Given the description of an element on the screen output the (x, y) to click on. 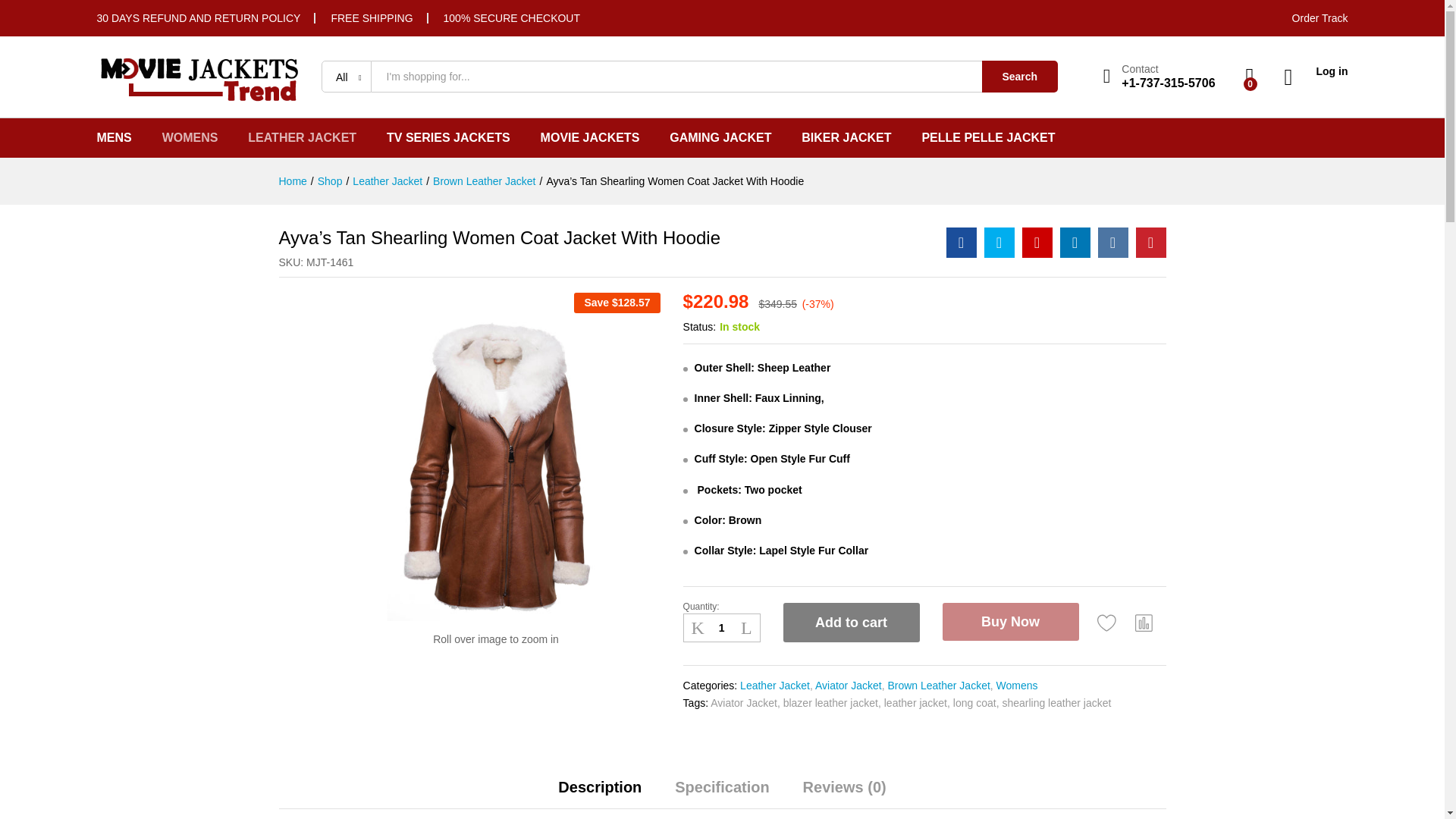
Search (1019, 76)
LEATHER JACKET (301, 137)
1 (721, 627)
MOVIE JACKETS (590, 137)
Qty (721, 627)
WOMENS (189, 137)
Log in (1316, 71)
MENS (114, 137)
GAMING JACKET (720, 137)
Wishlist (1106, 622)
TV SERIES JACKETS (449, 137)
BIKER JACKET (846, 137)
Order Track (1320, 18)
d5ddfce8-e9f2-4842-9cc3-4826e416a2bb (496, 456)
